Given the description of an element on the screen output the (x, y) to click on. 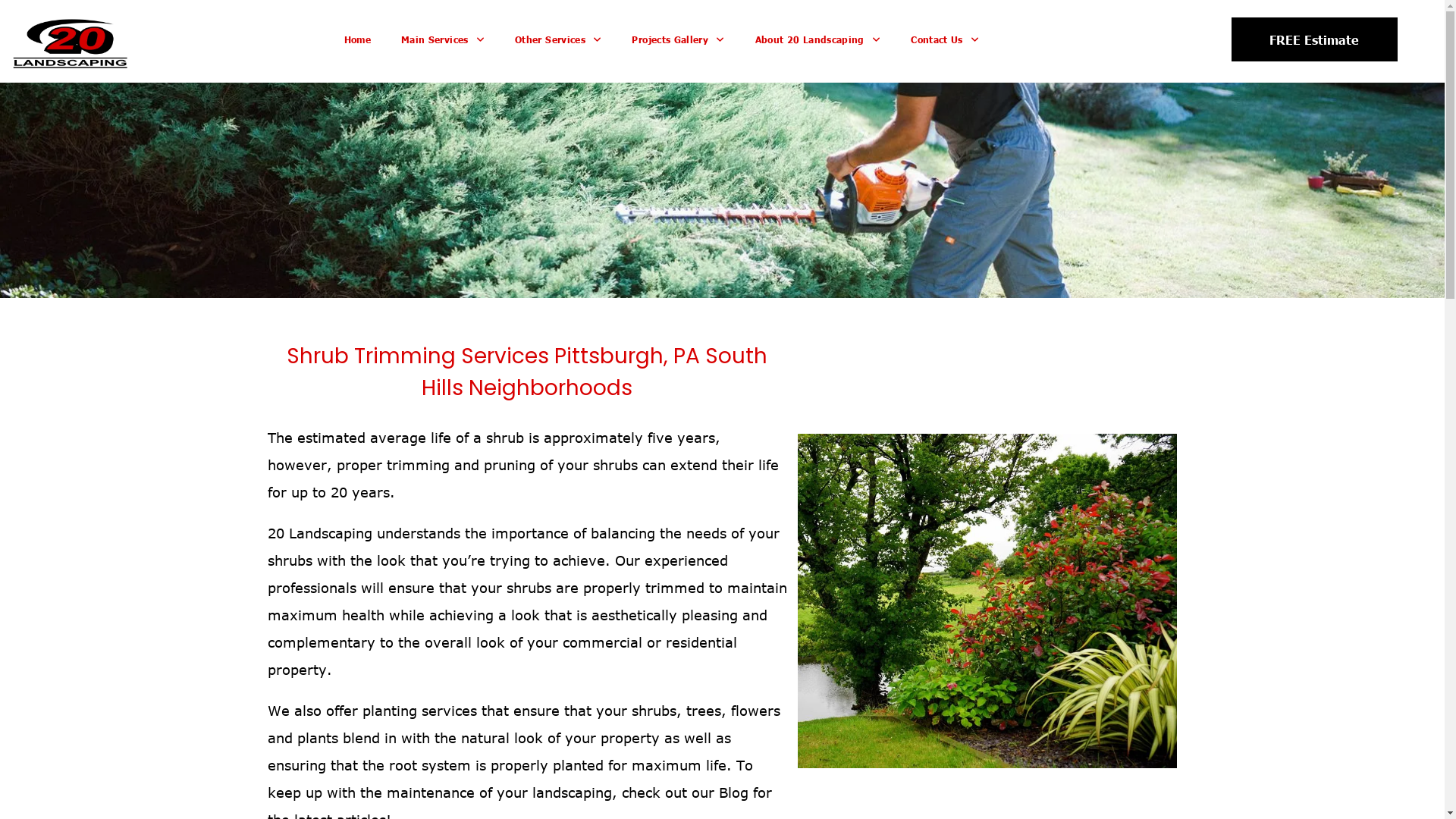
Other Services Element type: text (557, 40)
About 20 Landscaping Element type: text (818, 40)
Main Services Element type: text (442, 40)
Home Element type: text (357, 40)
FREE Estimate Element type: text (1314, 39)
Contact Us Element type: text (944, 40)
Projects Gallery Element type: text (677, 40)
